Given the description of an element on the screen output the (x, y) to click on. 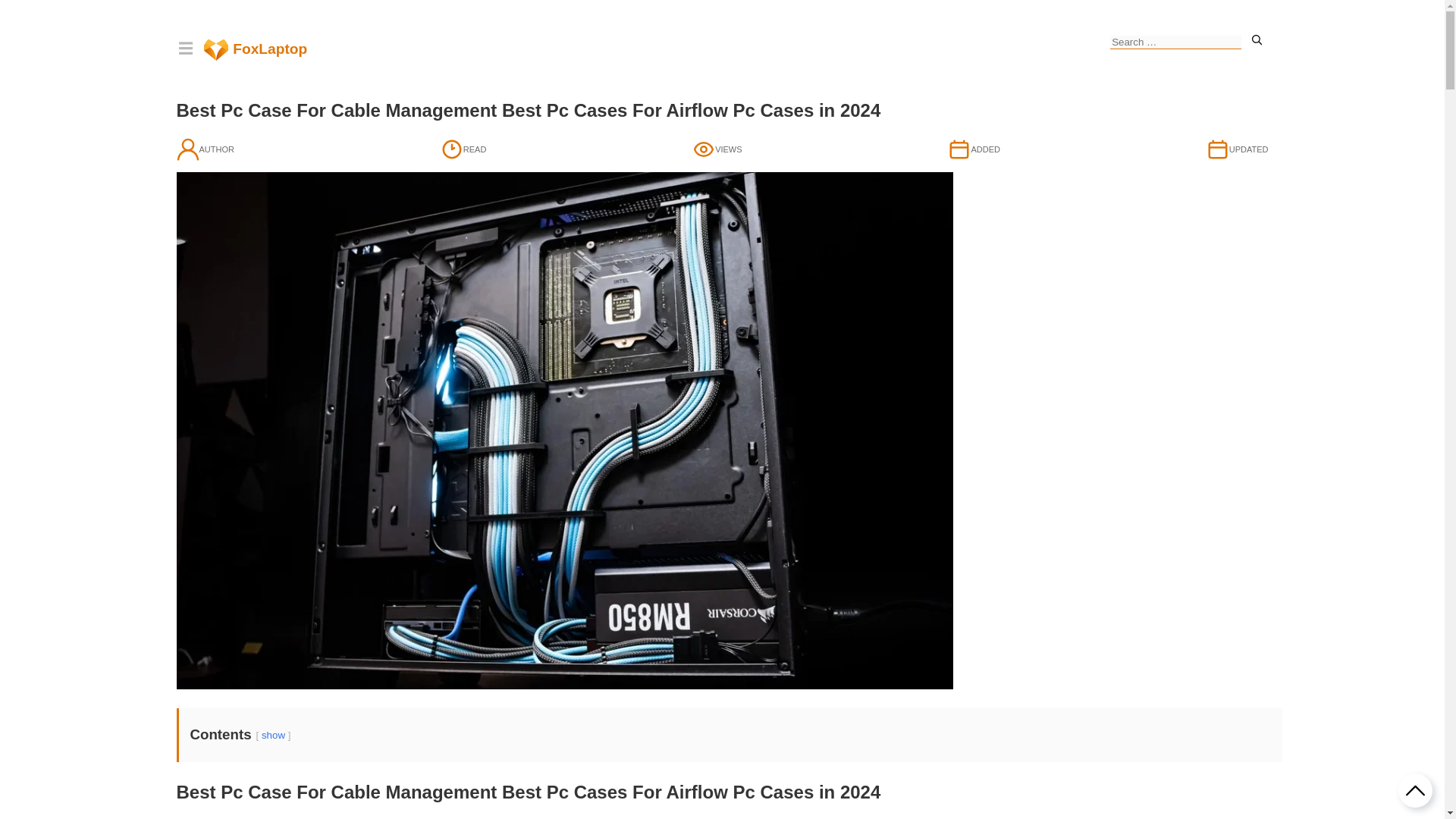
FoxLaptop (255, 48)
Search for: (1175, 42)
